Given the description of an element on the screen output the (x, y) to click on. 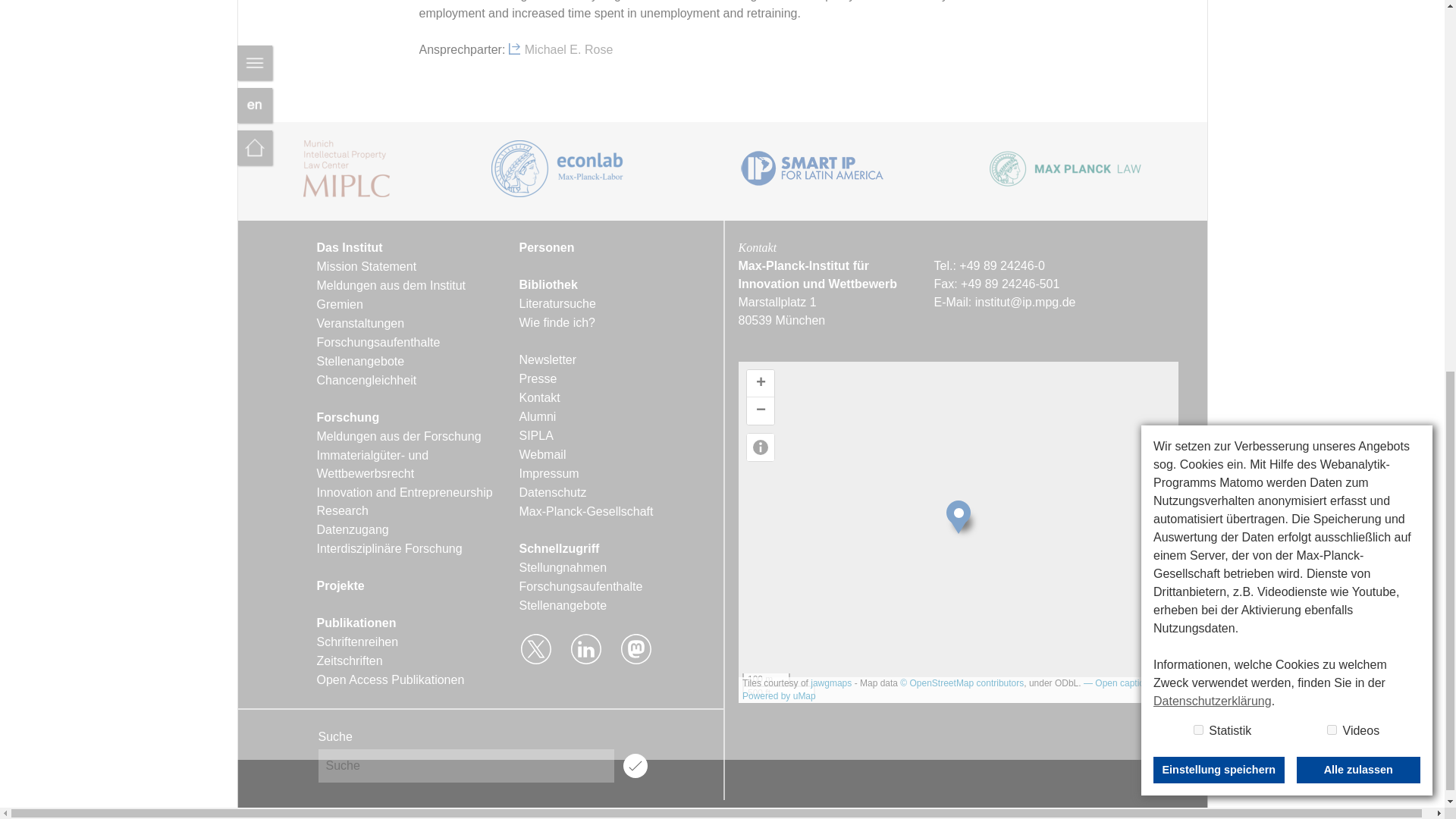
Suchen (635, 765)
Alle zulassen (1358, 74)
Einstellung speichern (1218, 74)
